Given the description of an element on the screen output the (x, y) to click on. 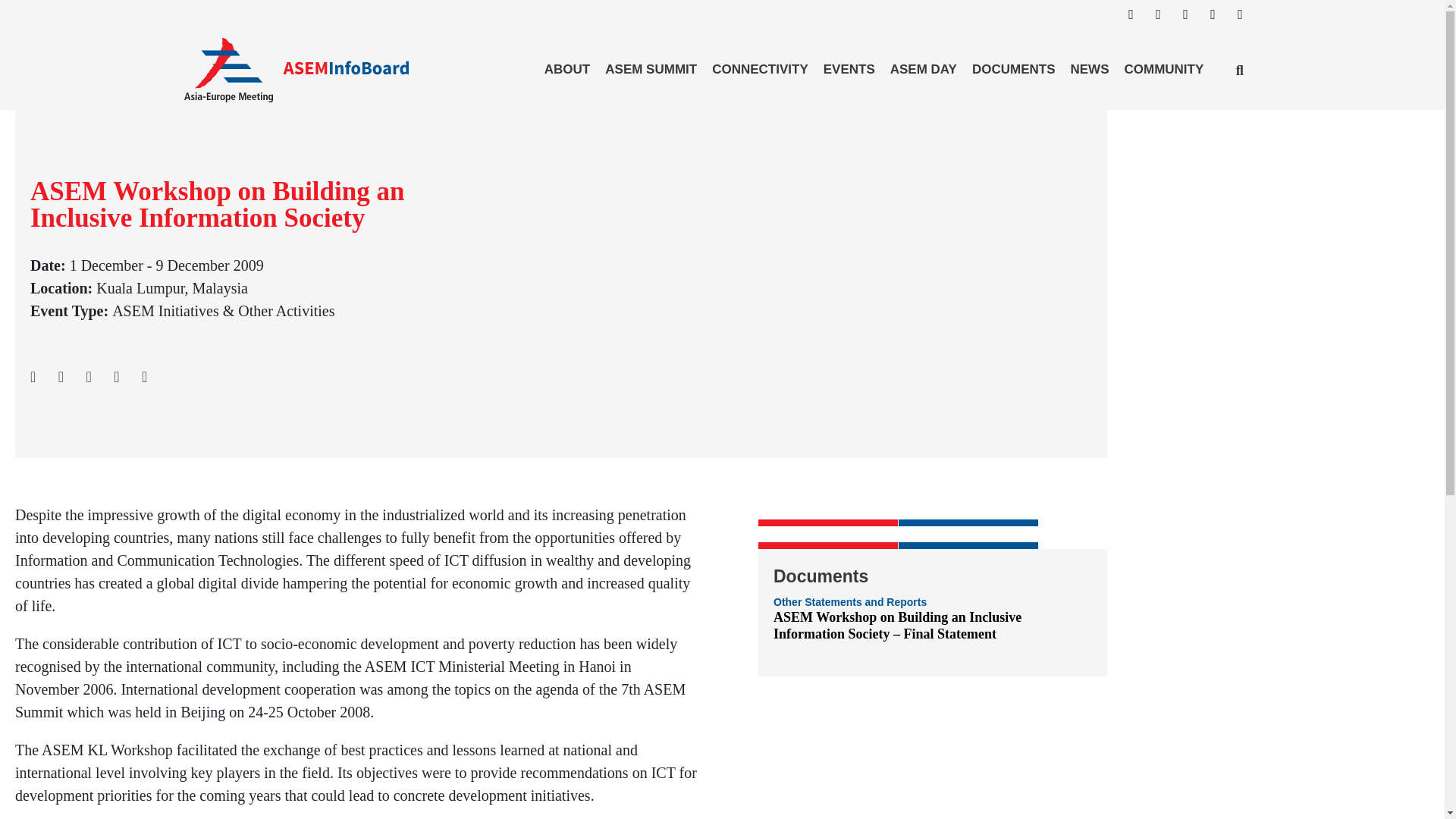
Linkedin-in (1191, 21)
COMMUNITY (1163, 69)
ASEM SUMMIT (650, 69)
NEWS (1089, 69)
ASEM DAY (922, 69)
Youtube (1246, 21)
Facebook-square (1137, 21)
ABOUT (566, 69)
CONNECTIVITY (759, 69)
Instagram (1164, 21)
